Given the description of an element on the screen output the (x, y) to click on. 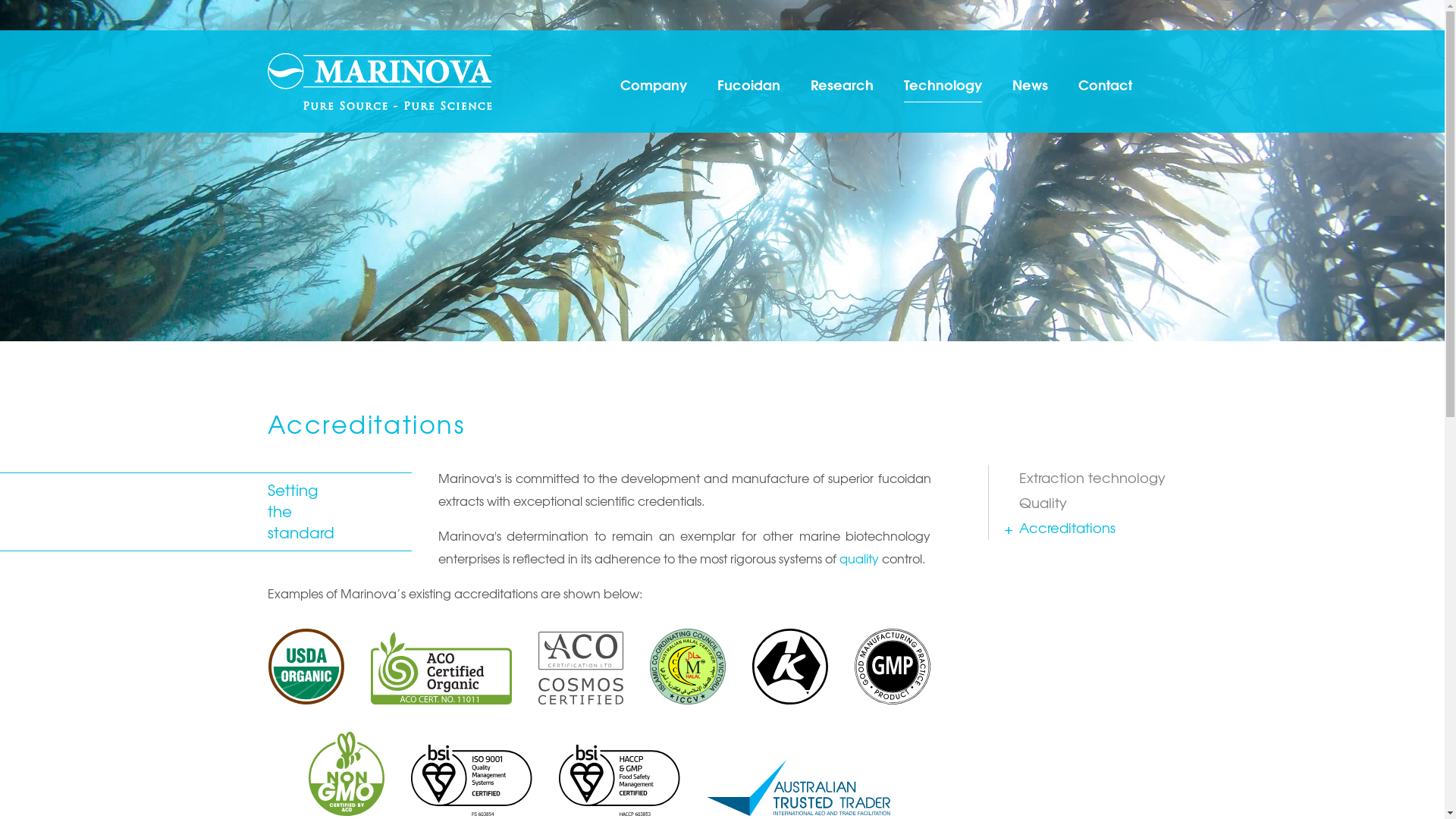
BSI HACCP & GMP Food Safety Management Certified Element type: hover (618, 779)
BSI ISO 9001 Quality Management Certified Element type: hover (471, 779)
Islamic Co-ordinating Council of Victoria (ICCV) Element type: hover (686, 666)
USDA Organic Element type: hover (306, 666)
quality Element type: text (858, 558)
Contact Element type: text (1105, 84)
Research Element type: text (841, 84)
Accreditations Element type: text (1098, 526)
News Element type: text (1029, 84)
ACO Certification Ltd. Cosmos Certified Element type: hover (580, 667)
ACO non-GMO Element type: hover (345, 773)
Good Manufacturing Practice (GMP) Product Element type: hover (891, 666)
Fucoidan Element type: text (748, 84)
Company Element type: text (653, 84)
Quality Element type: text (1098, 501)
Technology Element type: text (942, 84)
Extraction technology Element type: text (1098, 476)
Kosher Australia Element type: hover (790, 666)
ACO Certified Organic ACO Cert. No. 11011 Element type: hover (440, 667)
